Given the description of an element on the screen output the (x, y) to click on. 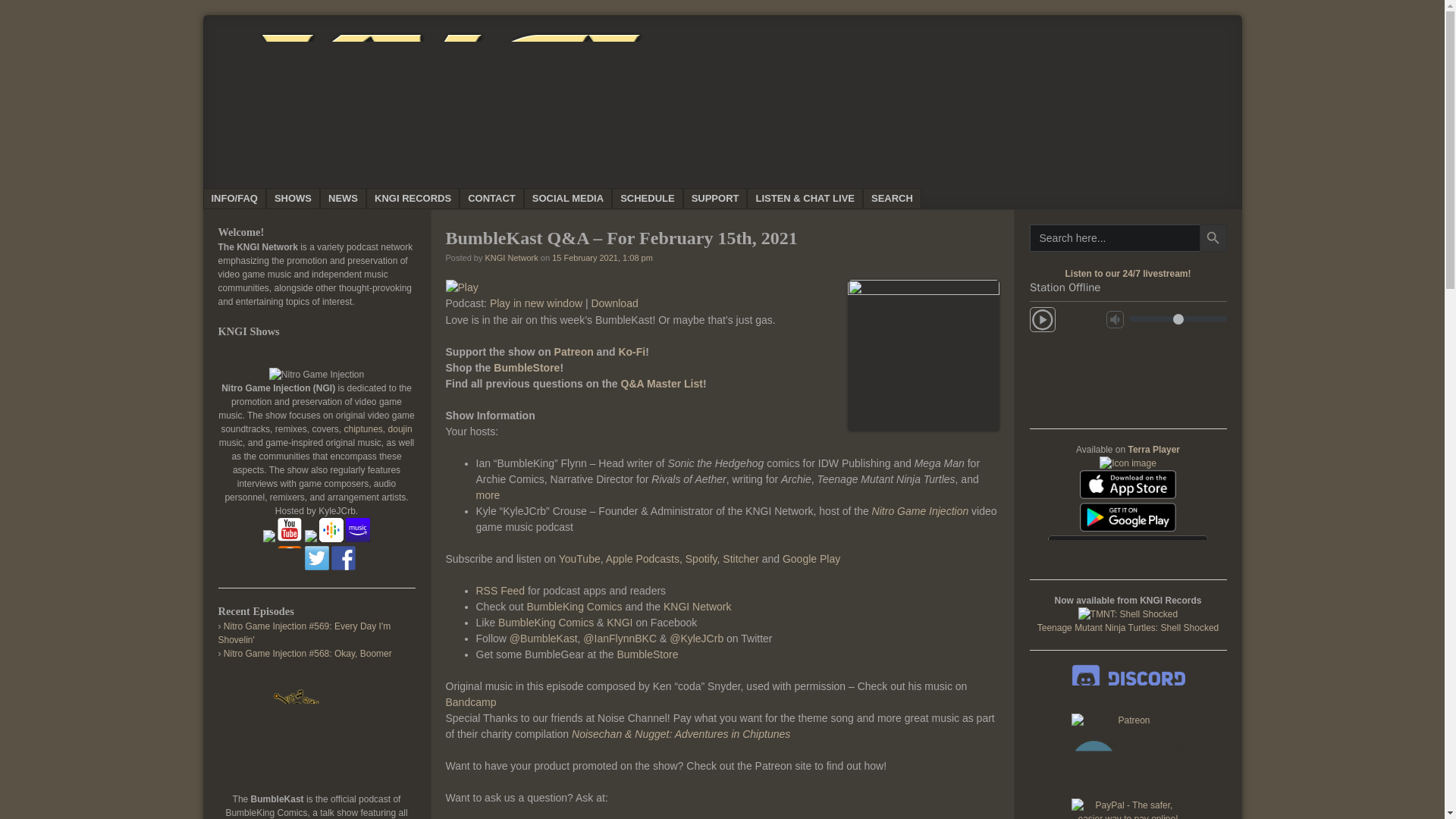
SHOWS (293, 198)
SCHEDULE (646, 198)
KNGI Network (430, 163)
NEWS (343, 198)
SUPPORT (715, 198)
Download (614, 303)
Play (462, 287)
SOCIAL MEDIA (567, 198)
KNGI Network (510, 257)
View all posts by KNGI Network (510, 257)
